Given the description of an element on the screen output the (x, y) to click on. 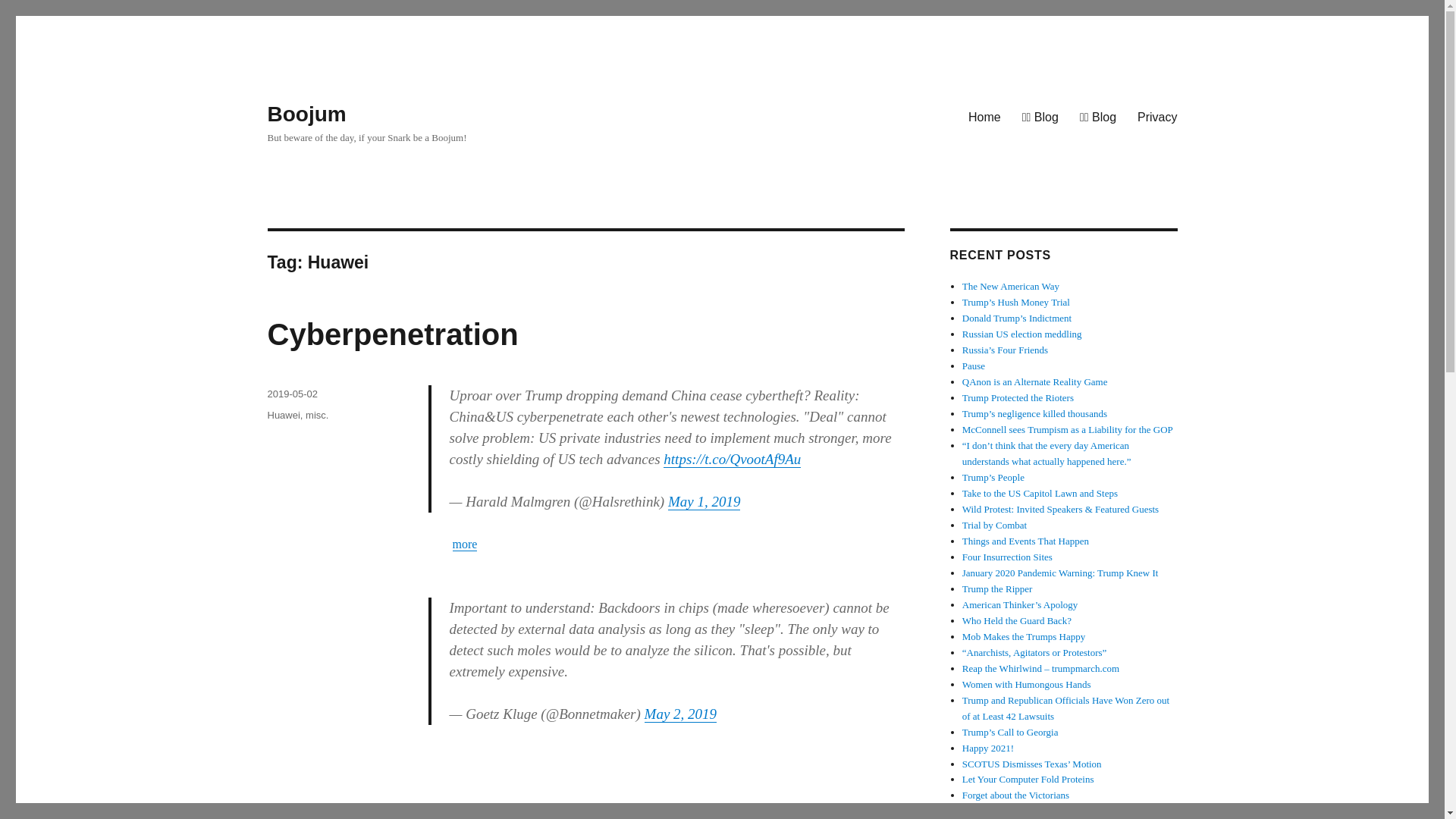
Russian US election meddling (1021, 333)
The New American Way (1010, 285)
Privacy (1157, 116)
Cyberpenetration (392, 334)
Boojum (306, 114)
McConnell sees Trumpism as a Liability for the GOP (1067, 429)
2019-05-02 (291, 393)
May 2, 2019 (681, 713)
more (464, 543)
misc. (317, 414)
Pause (973, 365)
QAnon is an Alternate Reality Game (1035, 381)
Trump Protected the Rioters (1018, 397)
May 1, 2019 (704, 501)
Home (984, 116)
